Given the description of an element on the screen output the (x, y) to click on. 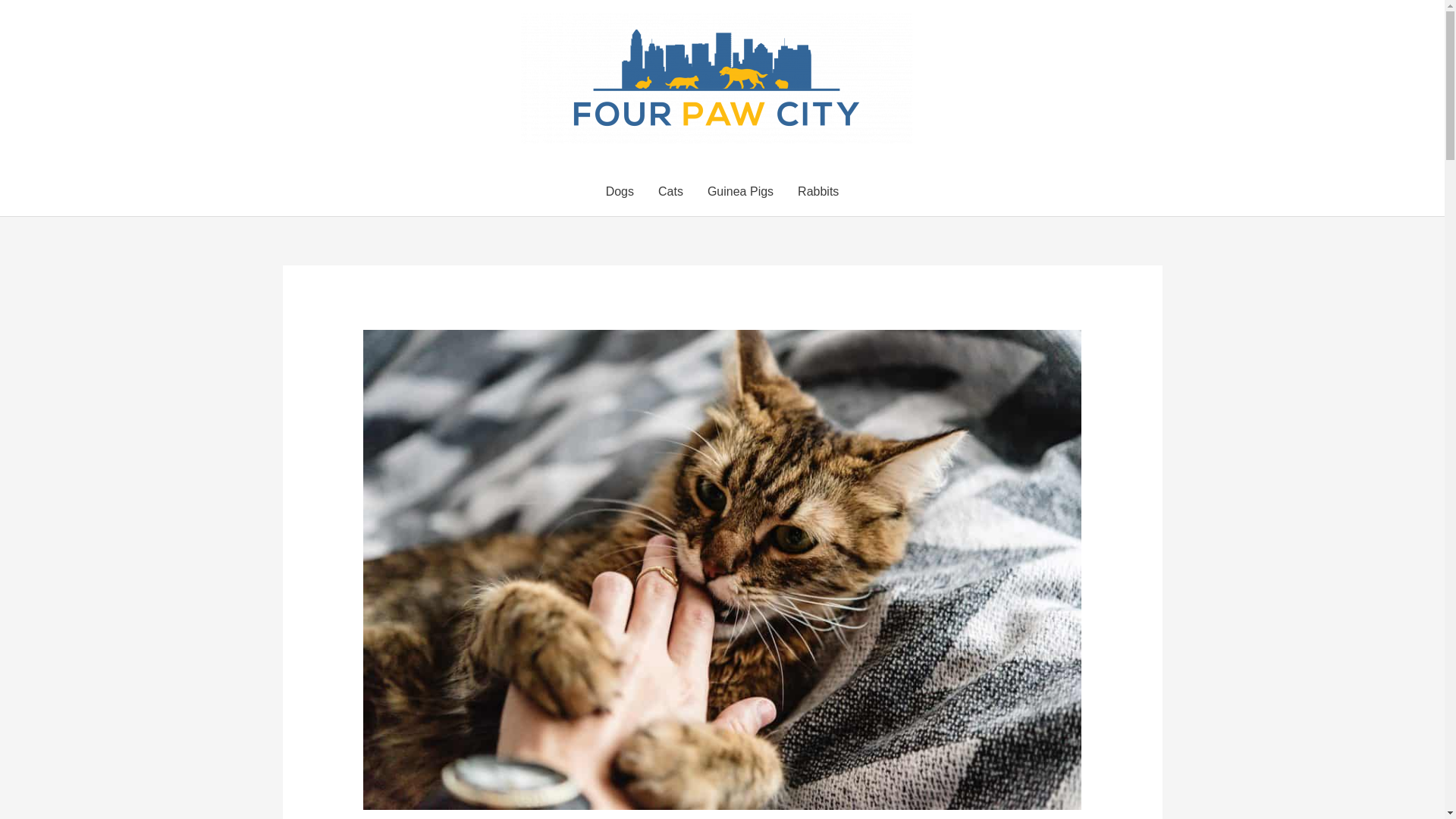
Dogs (620, 191)
Cats (670, 191)
Guinea Pigs (740, 191)
Rabbits (818, 191)
